Given the description of an element on the screen output the (x, y) to click on. 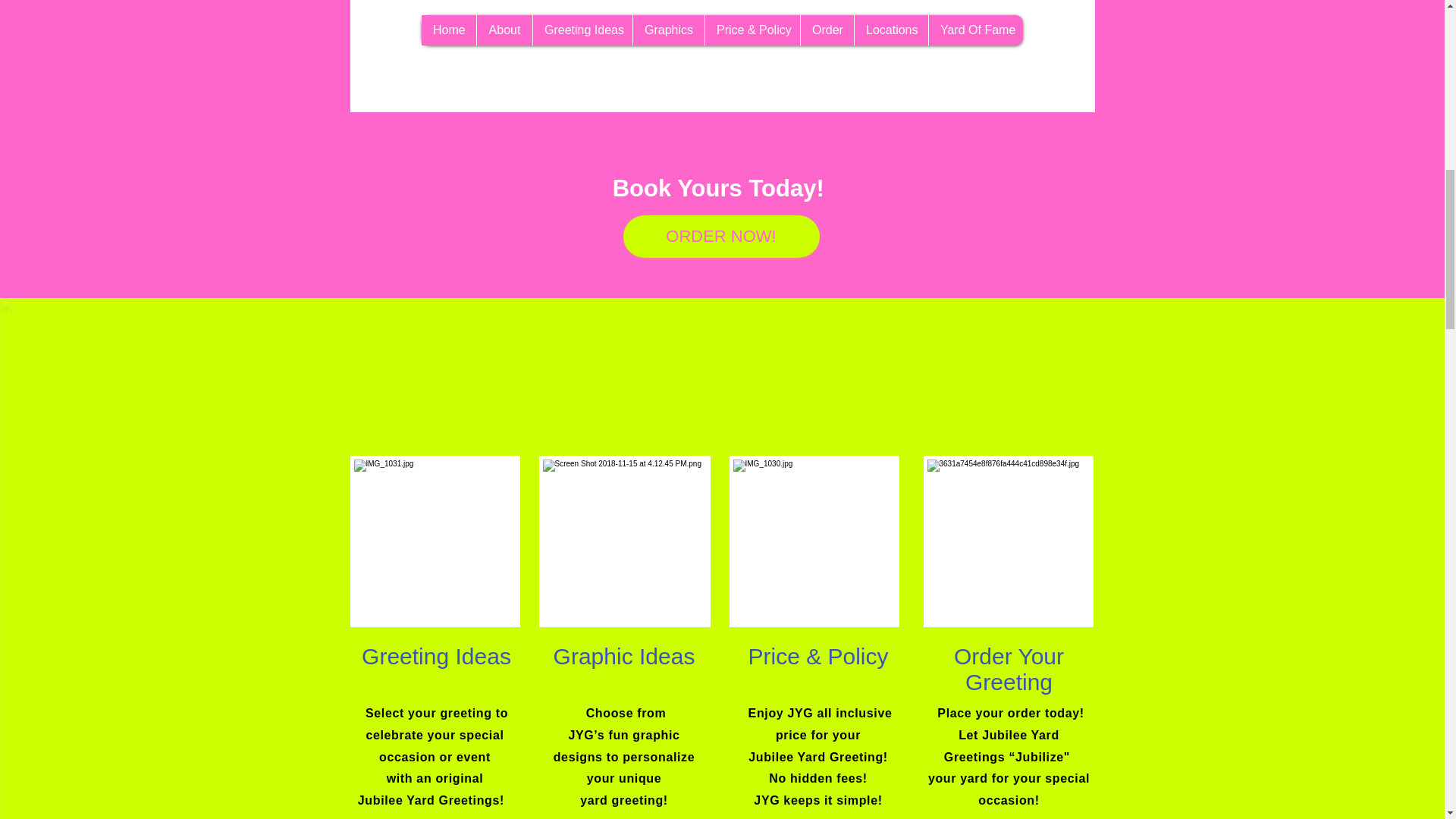
ORDER NOW! (721, 236)
